Given the description of an element on the screen output the (x, y) to click on. 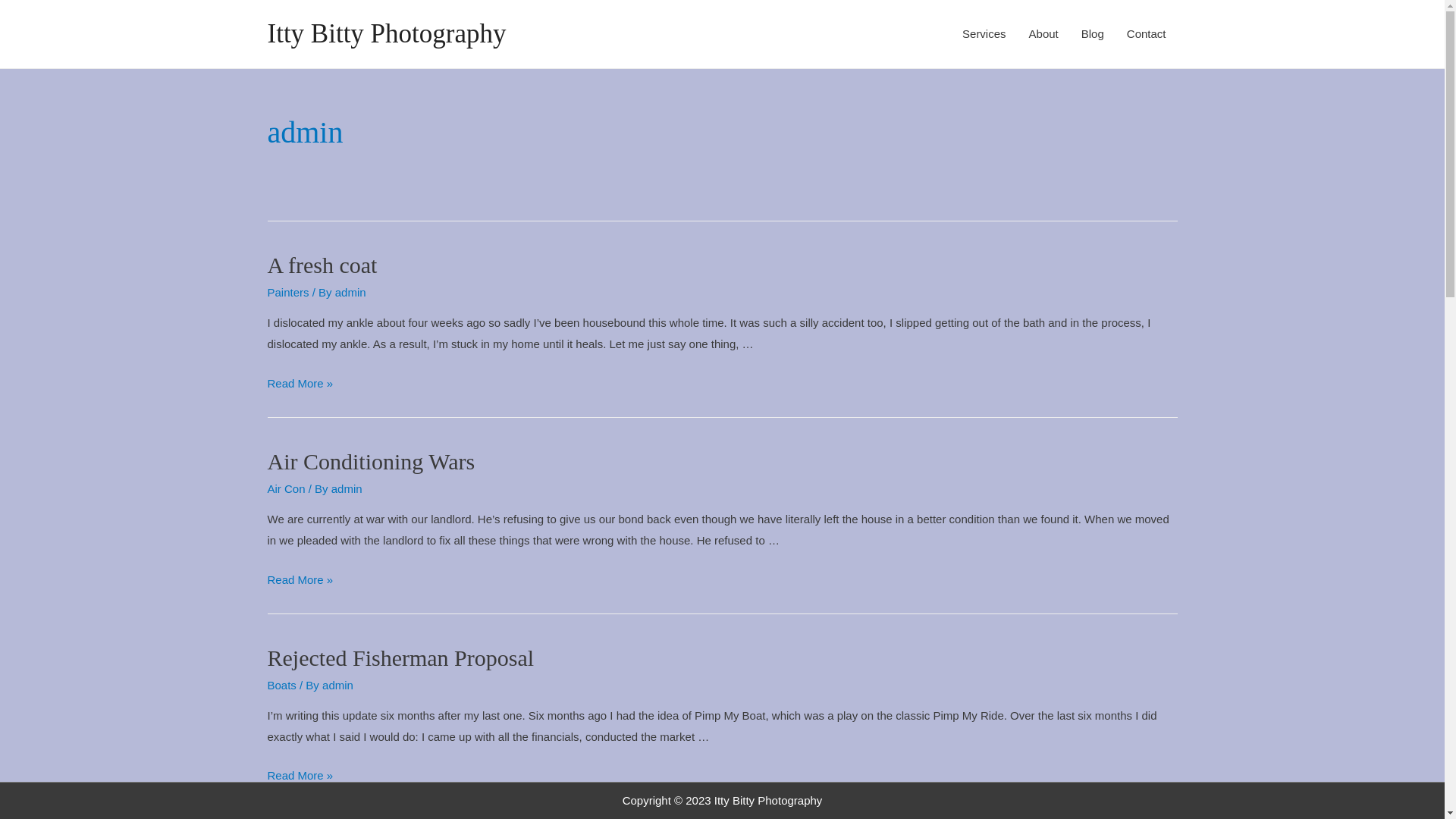
About Element type: text (1043, 33)
A fresh coat Element type: text (321, 264)
Services Element type: text (983, 33)
Itty Bitty Photography Element type: text (385, 33)
admin Element type: text (346, 488)
admin Element type: text (337, 684)
Painters Element type: text (287, 291)
Blog Element type: text (1092, 33)
Air Con Element type: text (285, 488)
Rejected Fisherman Proposal Element type: text (399, 657)
Boats Element type: text (280, 684)
Air Conditioning Wars Element type: text (370, 460)
admin Element type: text (350, 291)
Contact Element type: text (1146, 33)
